Given the description of an element on the screen output the (x, y) to click on. 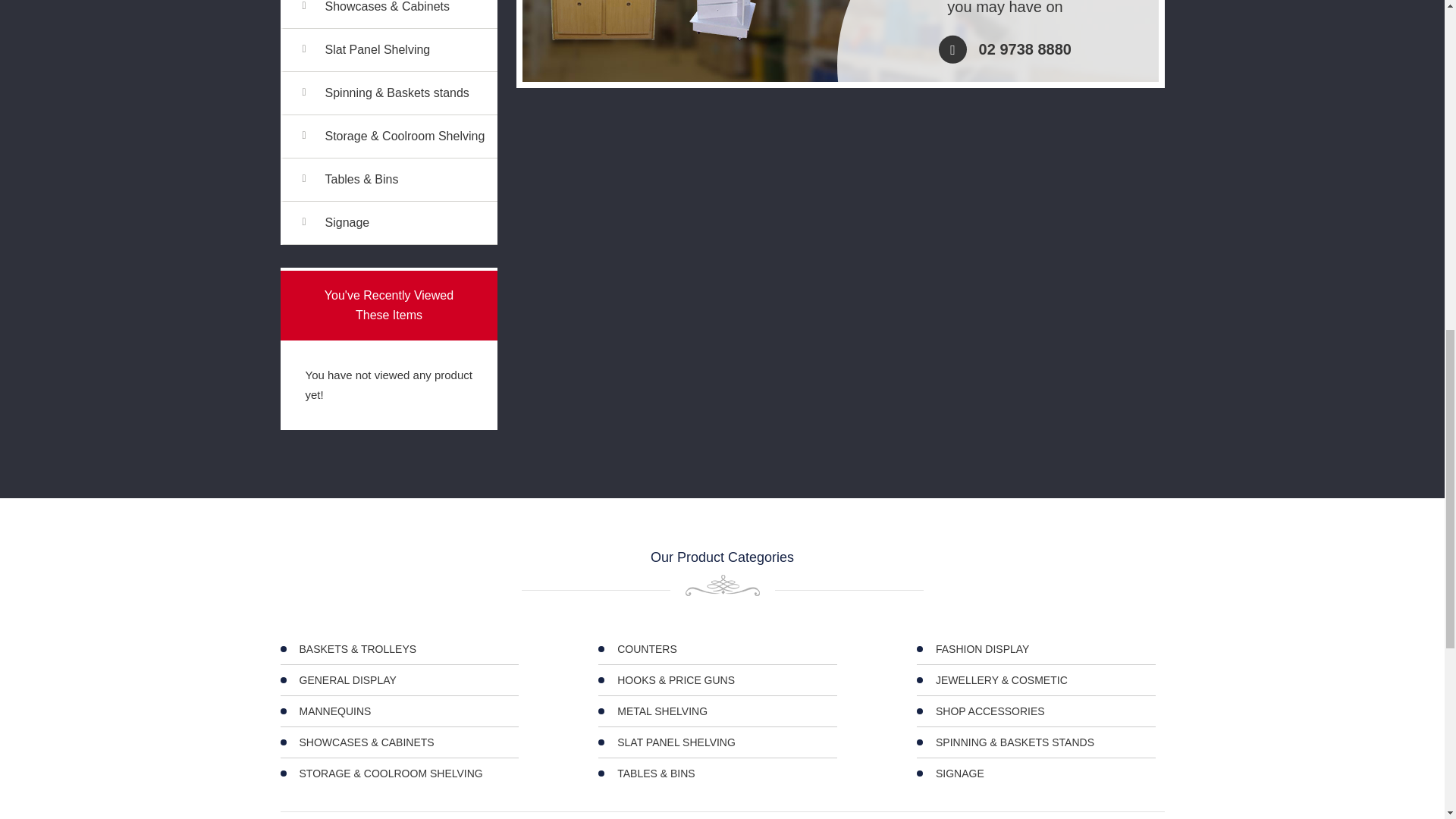
Slat Panel Shelving (406, 49)
